Given the description of an element on the screen output the (x, y) to click on. 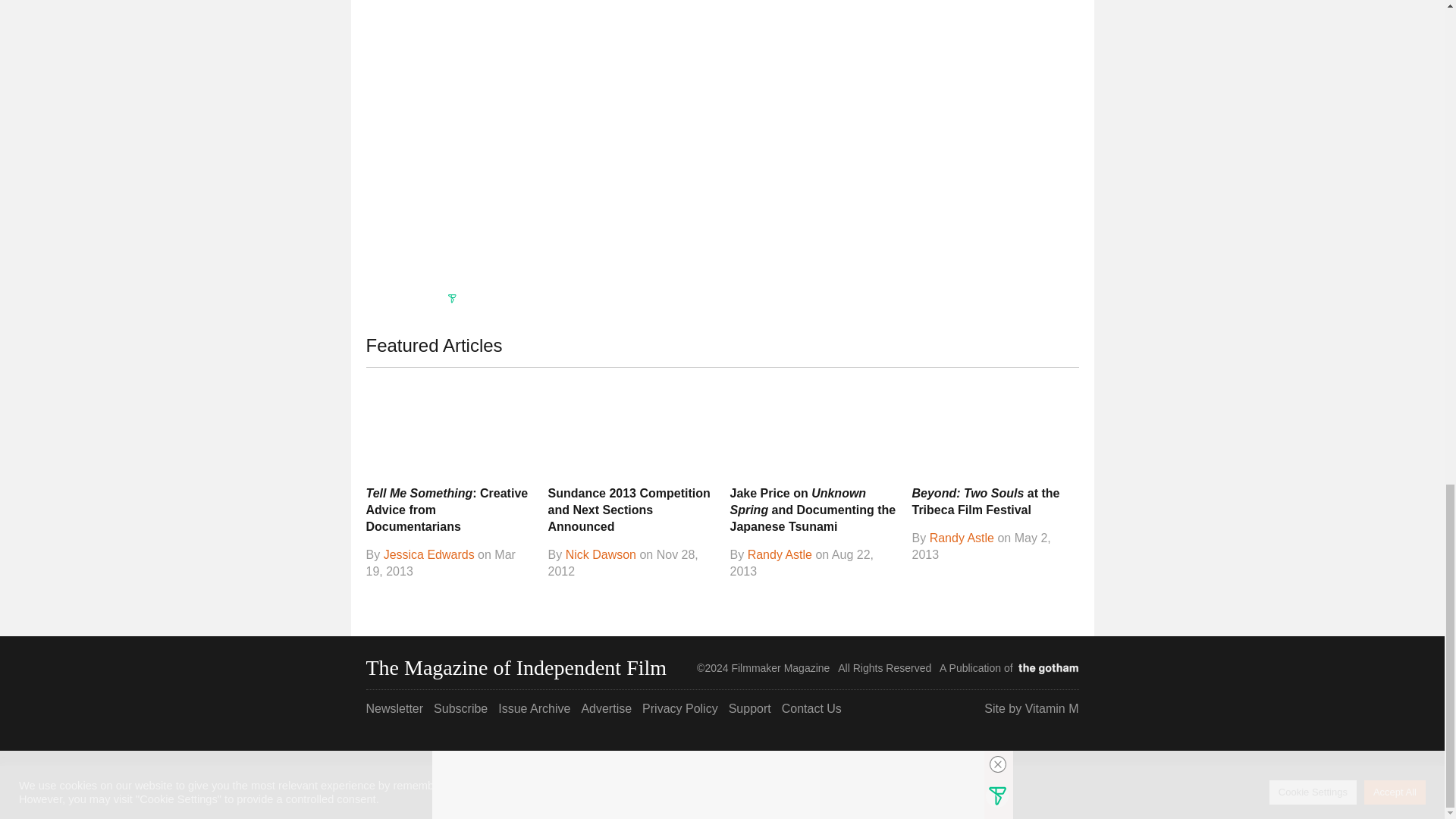
Posts by Nick Dawson (601, 554)
3rd party ad content (964, 98)
3rd party ad content (721, 255)
Posts by Jessica Edwards (429, 554)
